Given the description of an element on the screen output the (x, y) to click on. 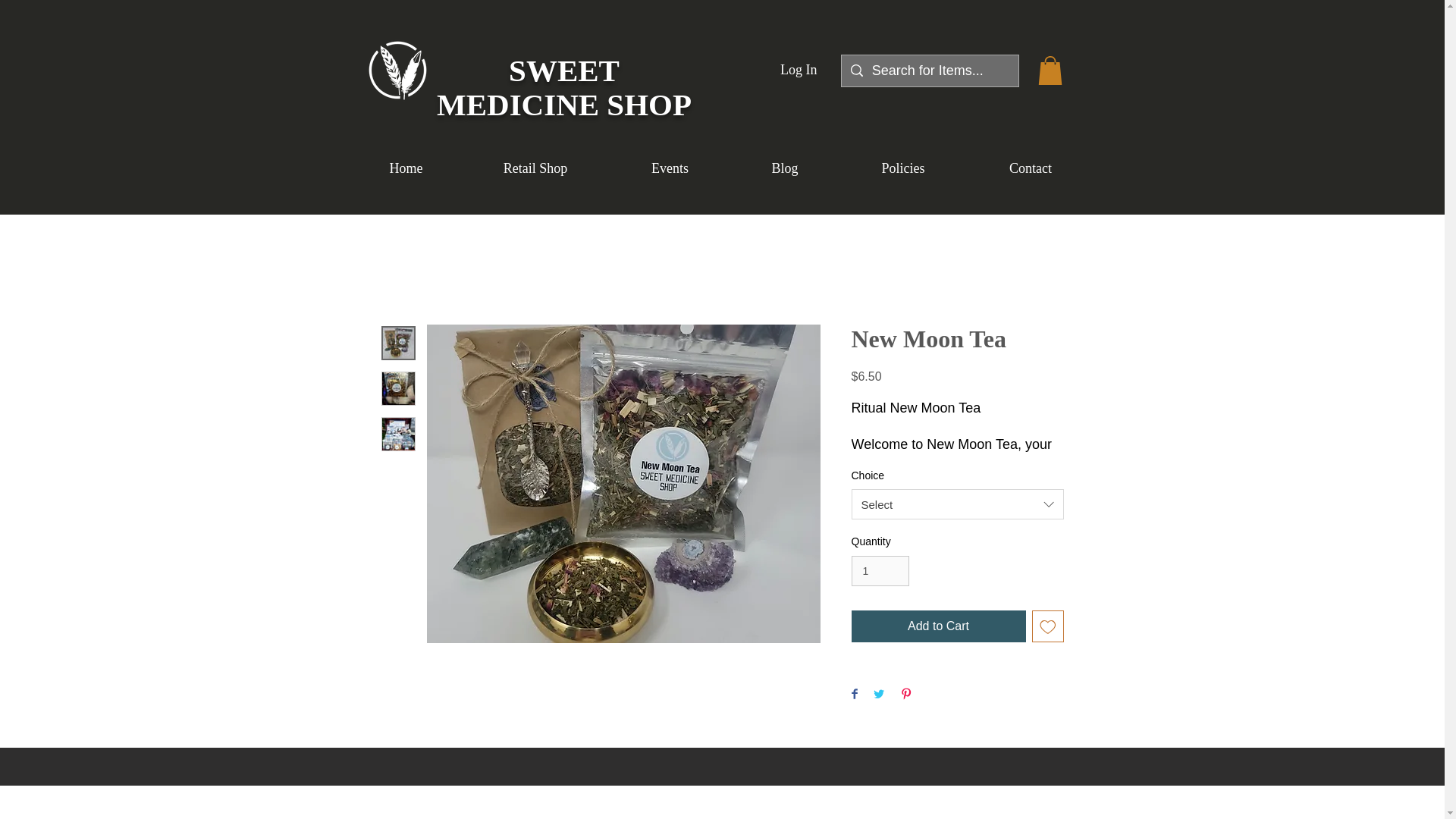
Blog (785, 168)
Contact (1031, 168)
Retail Shop (534, 168)
Events (670, 168)
Log In (799, 70)
Home (405, 168)
Add to Cart (937, 626)
Select (956, 503)
1 (879, 571)
